Given the description of an element on the screen output the (x, y) to click on. 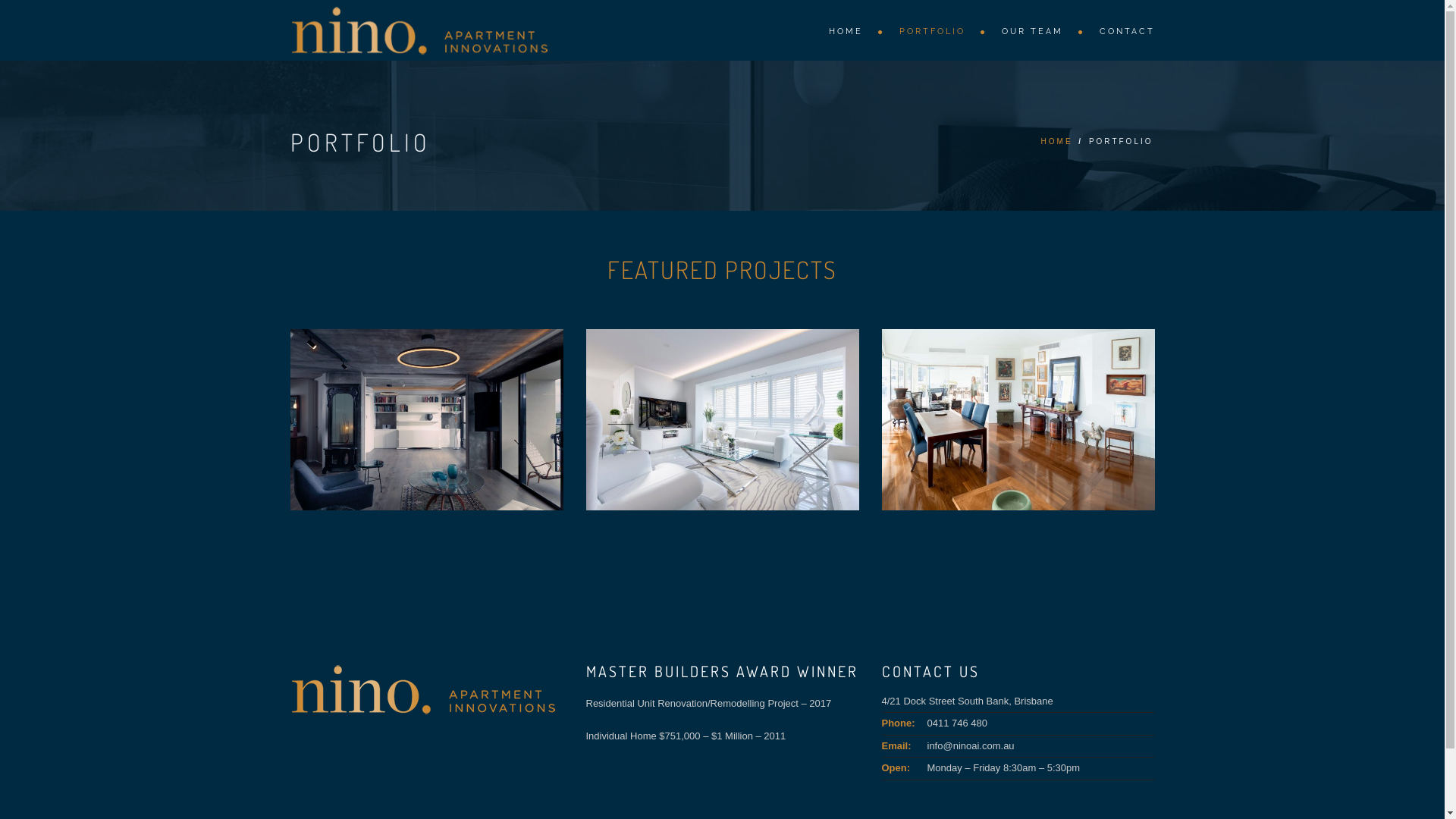
IMG_0001 Element type: hover (721, 420)
OUR TEAM Element type: text (1034, 30)
20150702AR_0079V1 Element type: hover (1017, 420)
HOME Element type: text (1057, 141)
info@ninoai.com.au Element type: text (969, 745)
CONTACT Element type: text (1119, 29)
HOME Element type: text (847, 30)
PORTFOLIO Element type: text (935, 30)
IMG_0009 Element type: hover (425, 420)
